Given the description of an element on the screen output the (x, y) to click on. 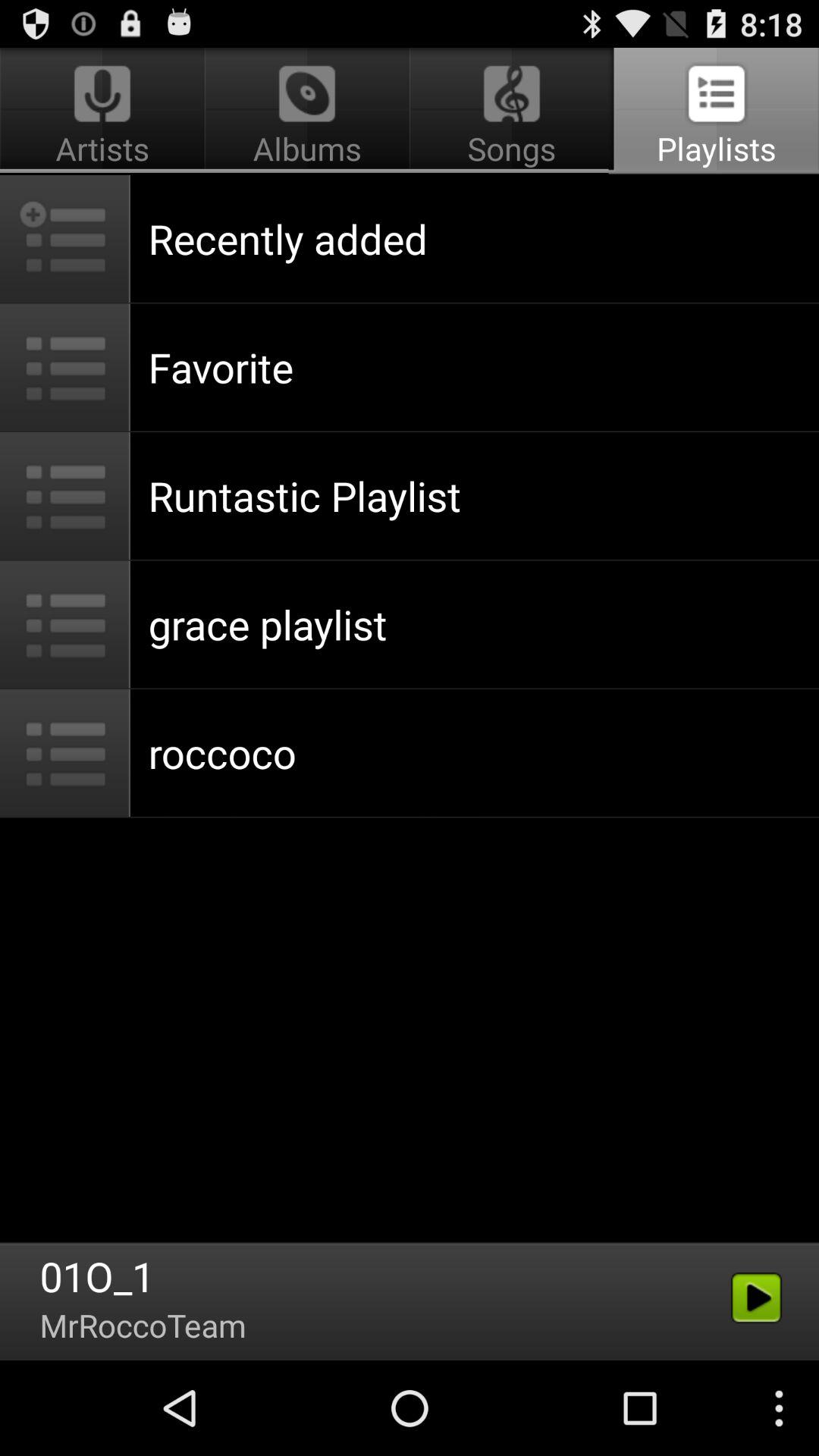
open playlists item (713, 111)
